Given the description of an element on the screen output the (x, y) to click on. 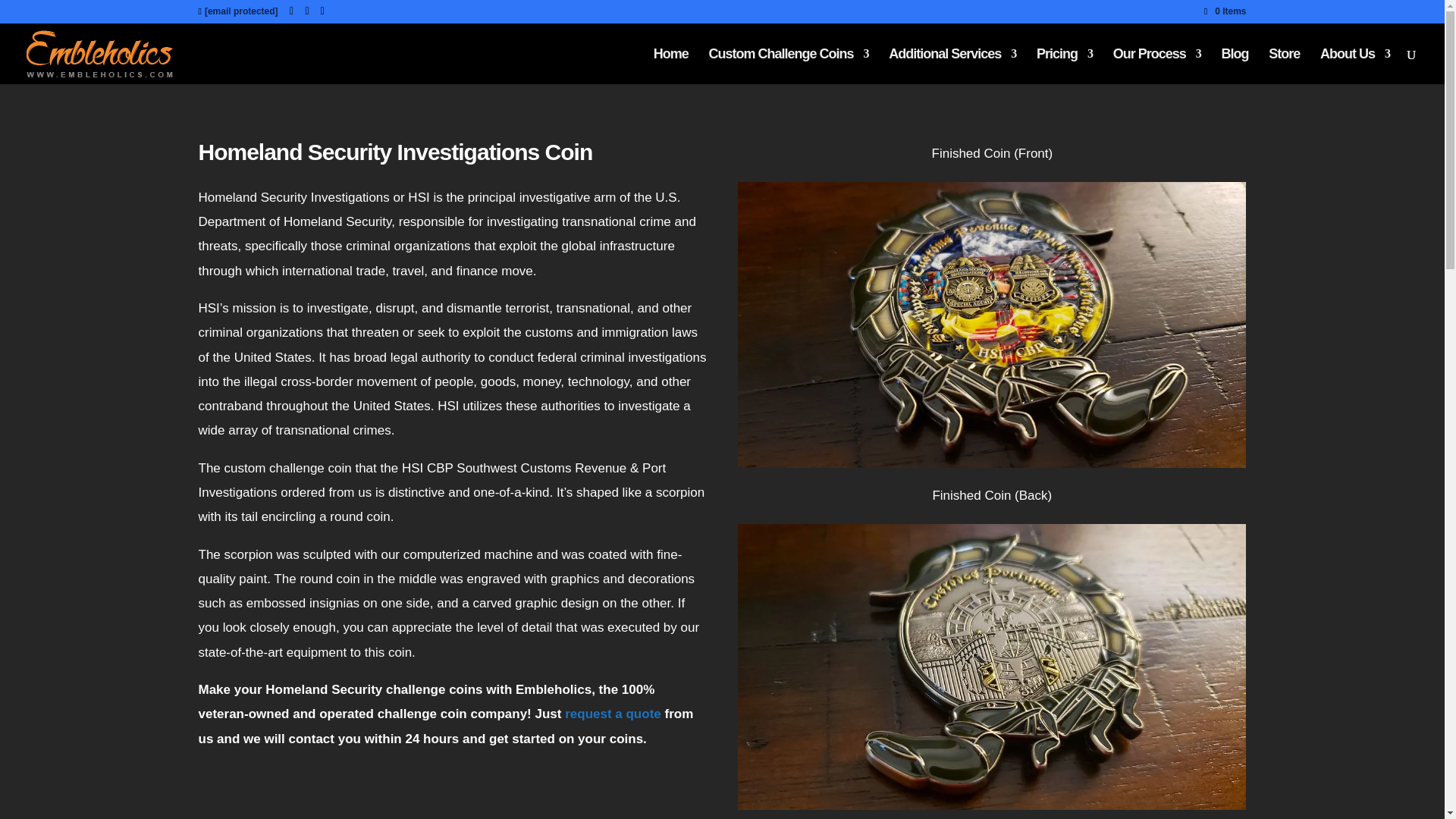
Pricing (1064, 66)
Custom Challenge Coins (787, 66)
Our Process (1157, 66)
Additional Services (952, 66)
0 Items (1225, 10)
request a quote (612, 713)
Home (670, 66)
About Us (1355, 66)
